Given the description of an element on the screen output the (x, y) to click on. 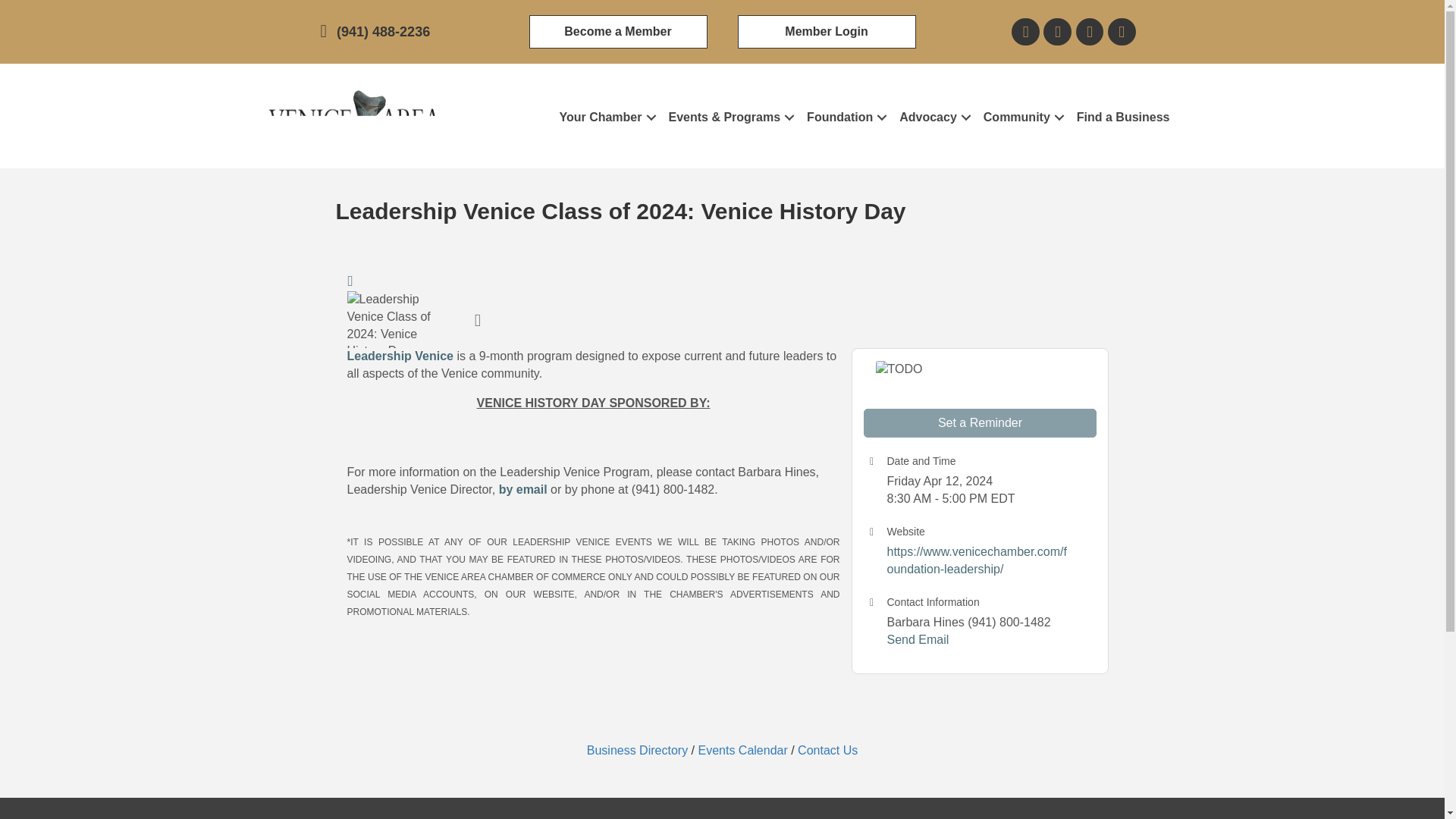
Your Chamber (605, 117)
Member Login (825, 31)
Set a Reminder (979, 422)
by email (523, 489)
Community (1021, 117)
Find a Business (1122, 117)
Leadership Venice (400, 355)
Foundation (845, 117)
Advocacy (933, 117)
Become a Member (618, 31)
